Given the description of an element on the screen output the (x, y) to click on. 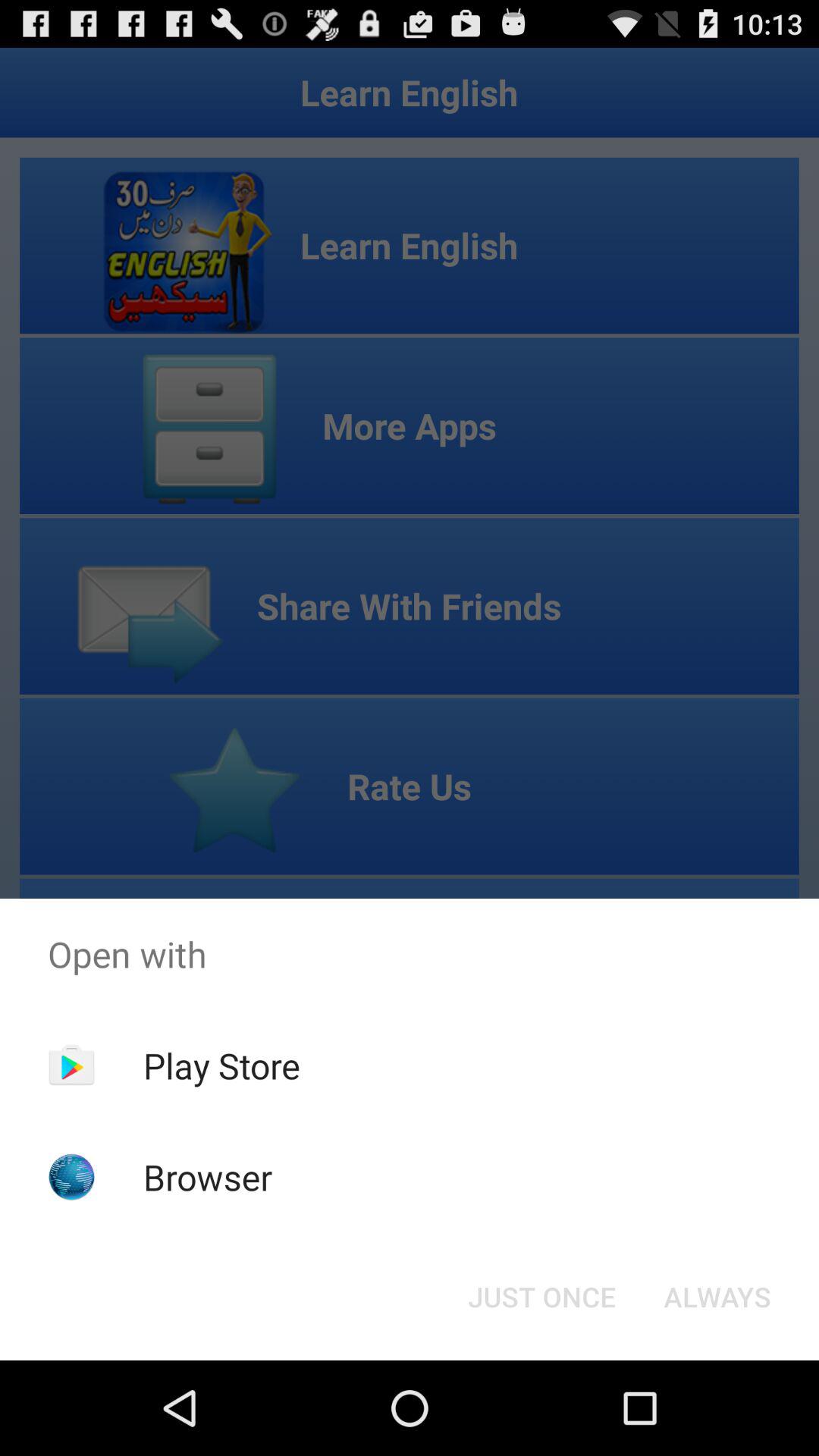
choose button to the right of just once (717, 1296)
